Given the description of an element on the screen output the (x, y) to click on. 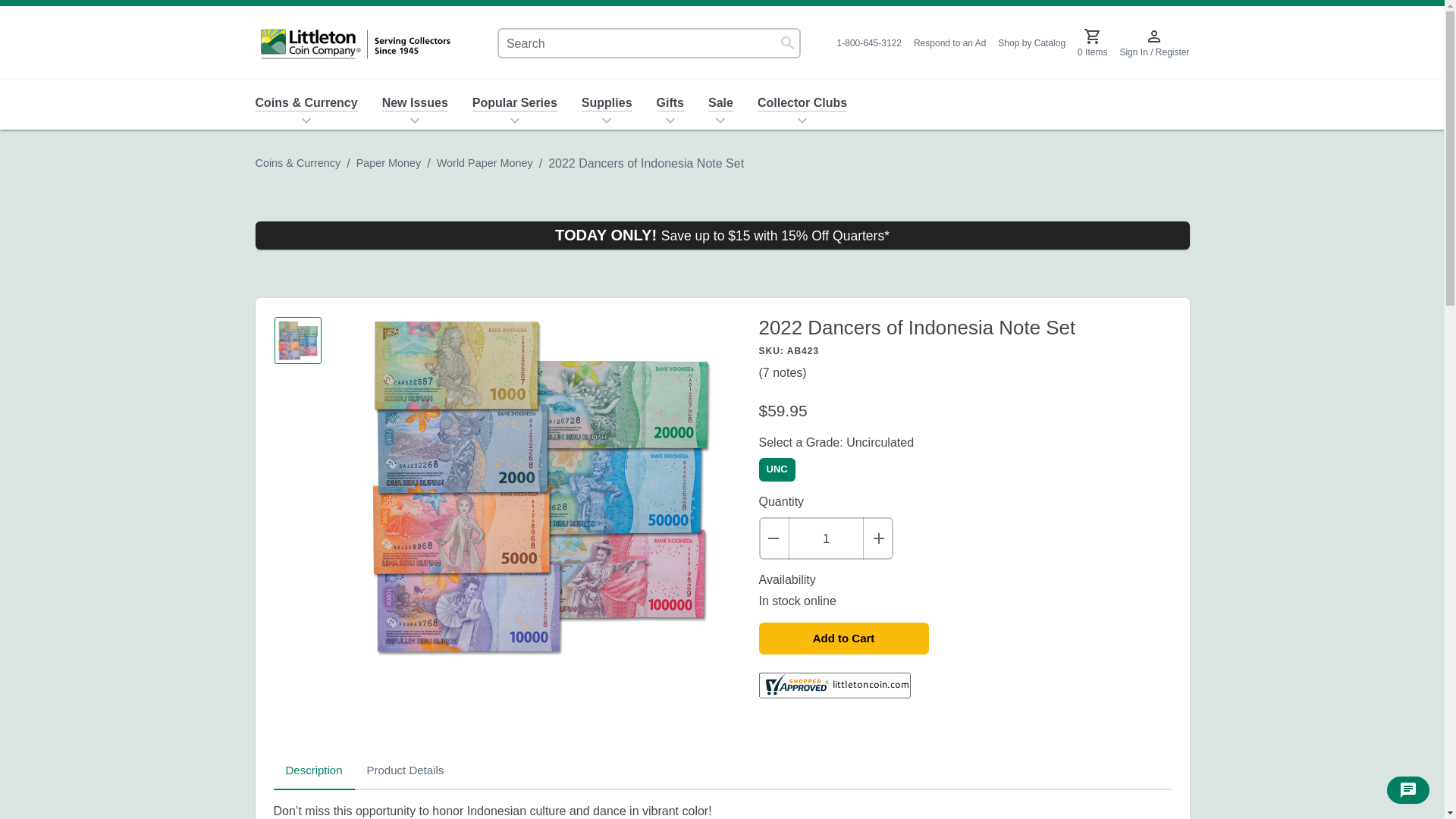
New Issues (414, 103)
Shop by Catalog (1031, 42)
Gifts (670, 103)
UNC (776, 469)
Collector Clubs (802, 103)
World Paper Money (484, 162)
Popular Series (514, 103)
1 (826, 537)
Paper Money (389, 162)
Supplies (607, 103)
Product Details (406, 770)
0 Items (1091, 42)
Respond to an Ad (721, 771)
Sale (949, 42)
